Given the description of an element on the screen output the (x, y) to click on. 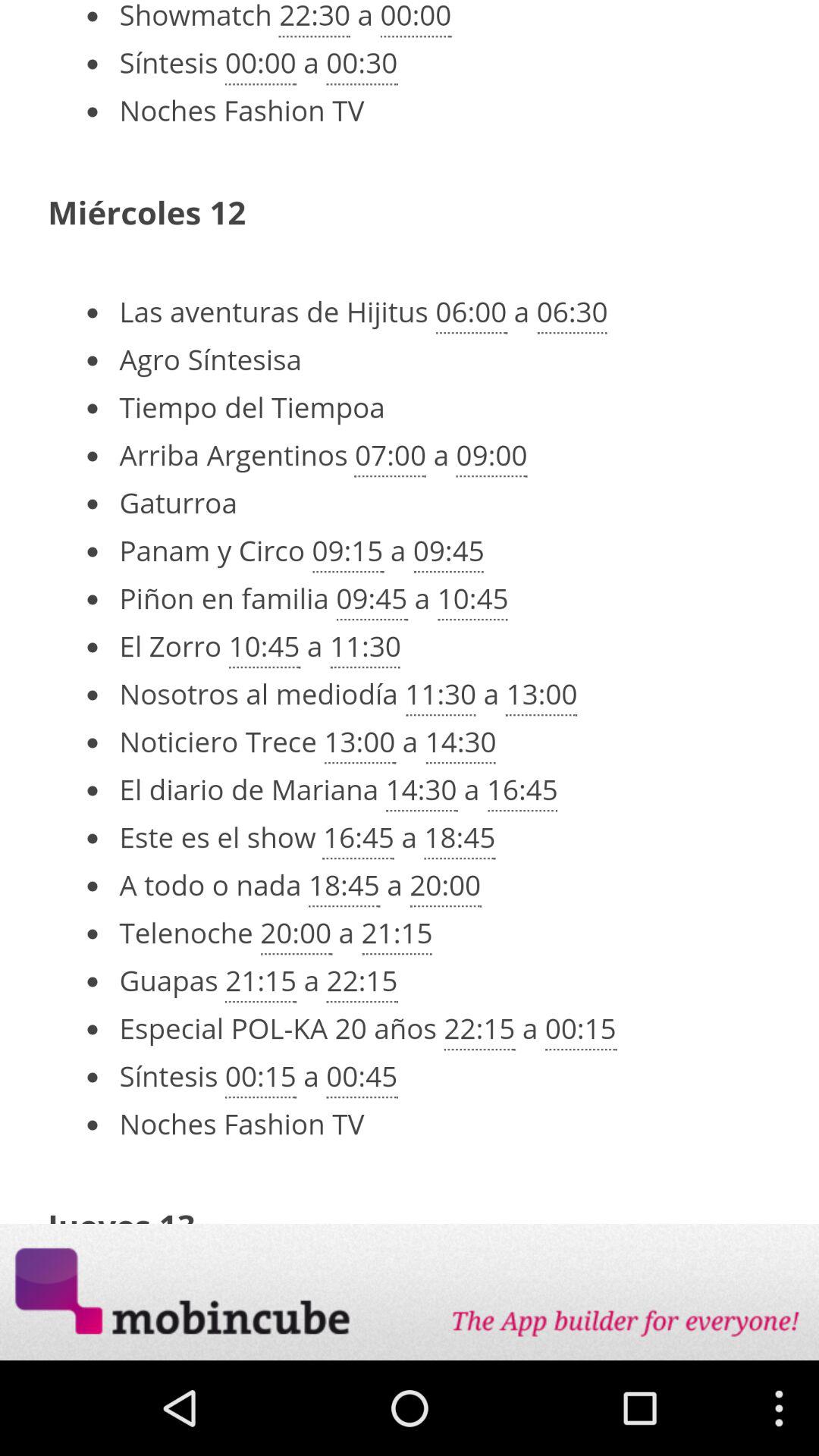
for advertisement (409, 1291)
